Given the description of an element on the screen output the (x, y) to click on. 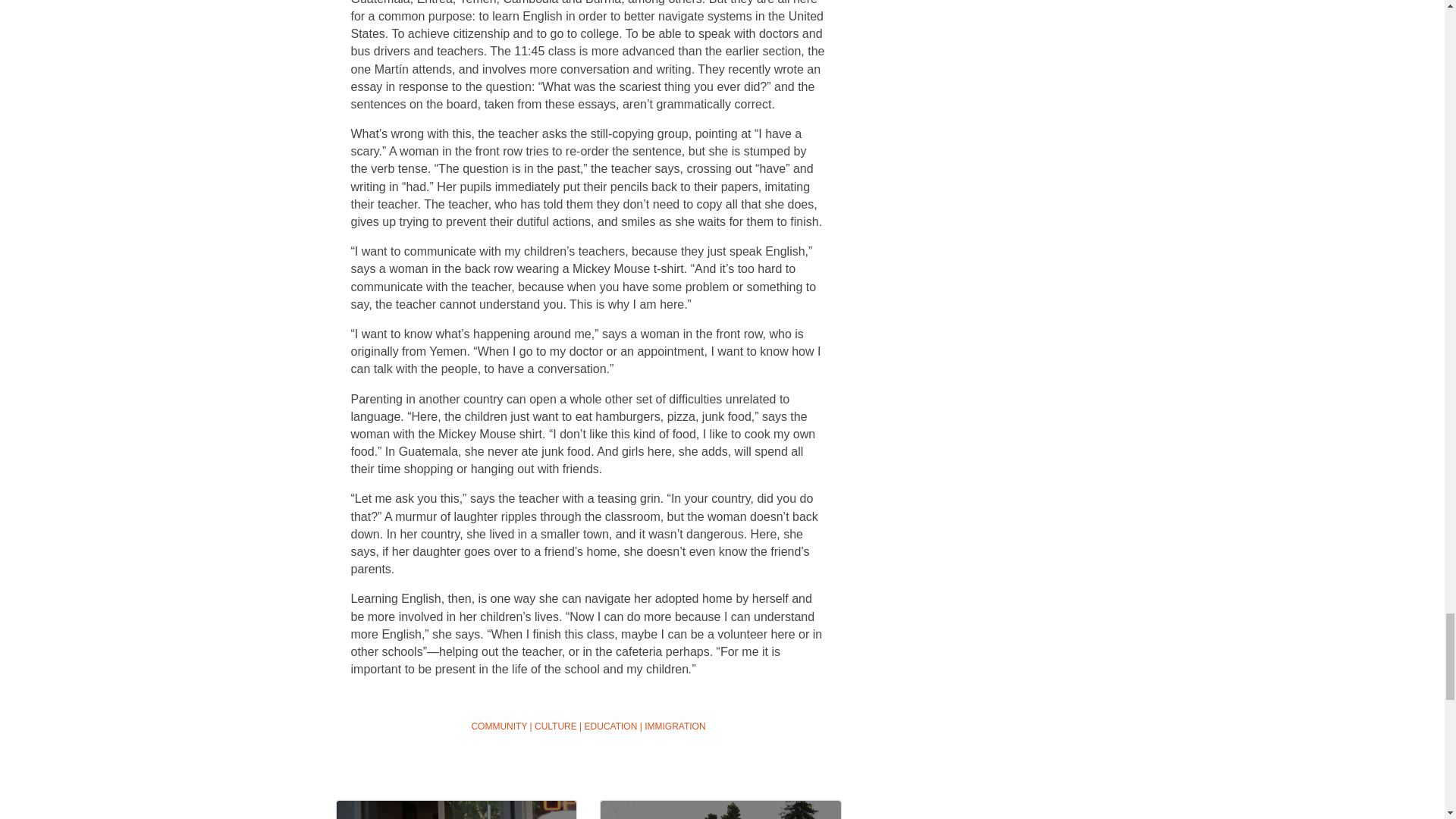
COMMUNITY (498, 726)
EDUCATION (611, 726)
IMMIGRATION (674, 726)
CULTURE (555, 726)
